Given the description of an element on the screen output the (x, y) to click on. 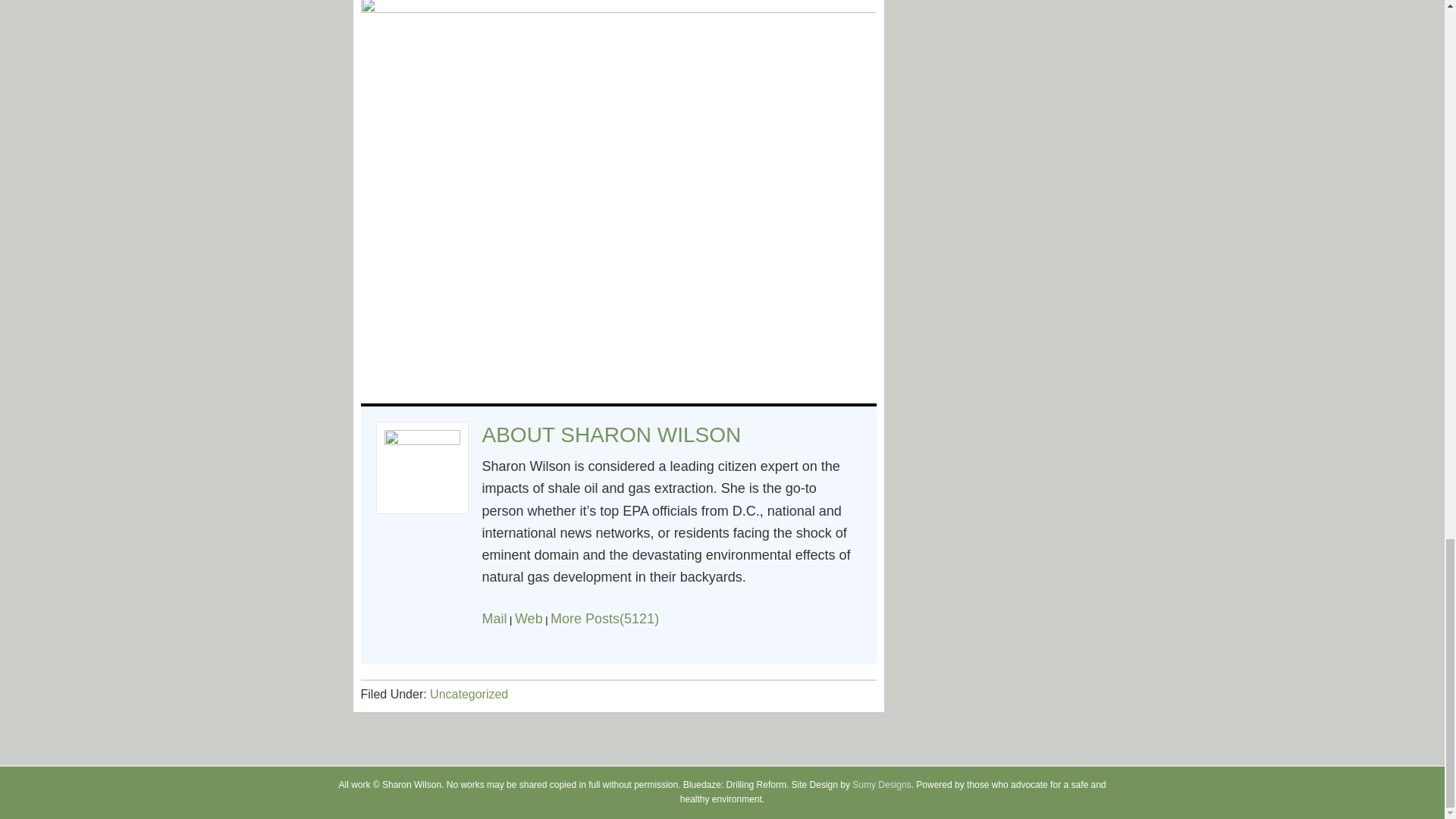
Uncategorized (468, 694)
Sharon Wilson (650, 434)
Web (529, 618)
Sharon Wilson On The Web (529, 618)
Mail (493, 618)
Send Sharon Wilson Mail (493, 618)
More Posts By Sharon Wilson (604, 618)
SHARON WILSON (650, 434)
